Given the description of an element on the screen output the (x, y) to click on. 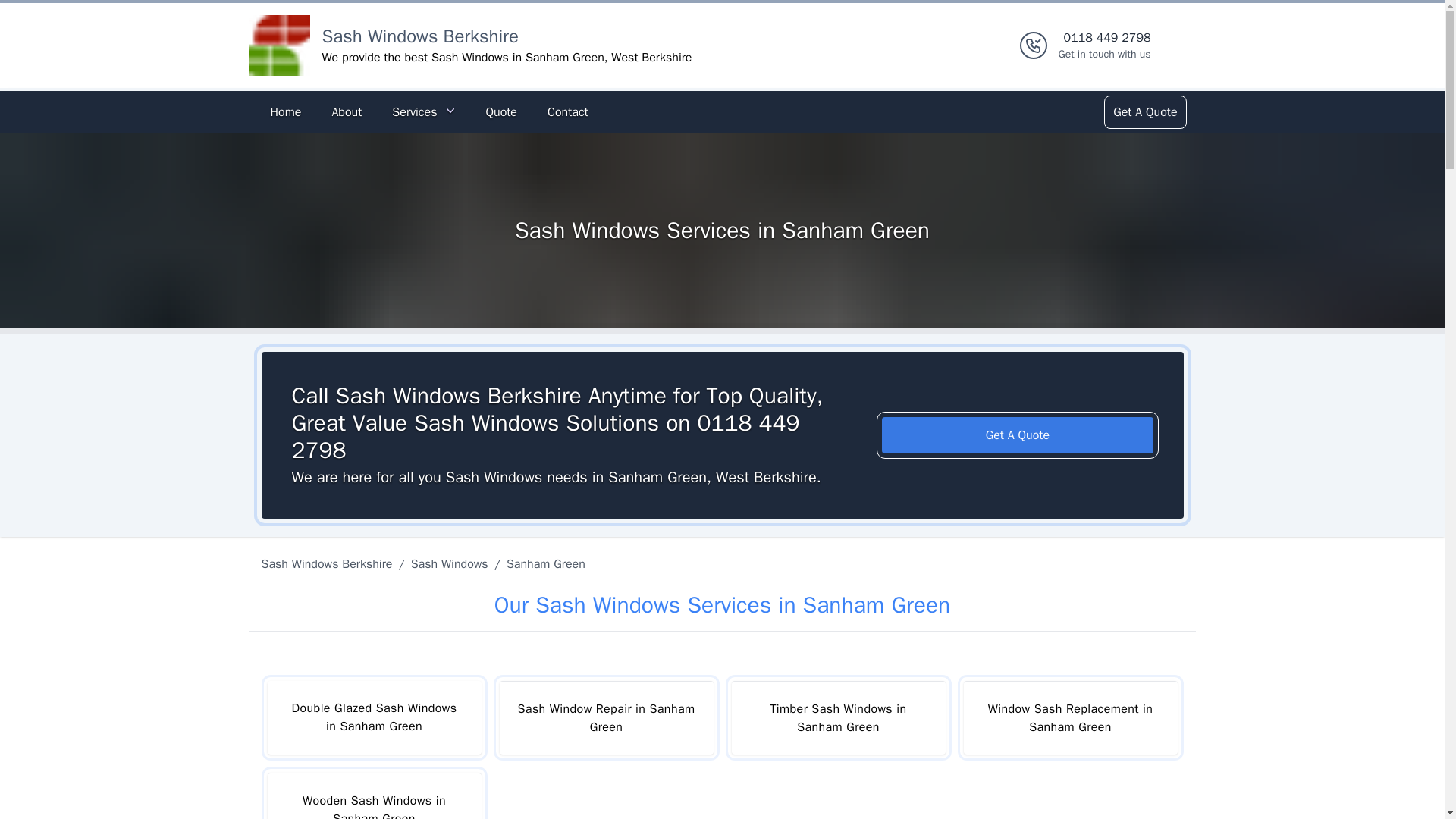
Get A Quote (1104, 45)
Quote (1144, 112)
Logo (500, 112)
Contact (278, 45)
Double Glazed Sash Windows in Sanham Green (567, 112)
Sash Window Repair in Sanham Green (373, 717)
Sash Windows (606, 717)
Wooden Sash Windows in Sanham Green (449, 564)
Get A Quote (373, 796)
